Given the description of an element on the screen output the (x, y) to click on. 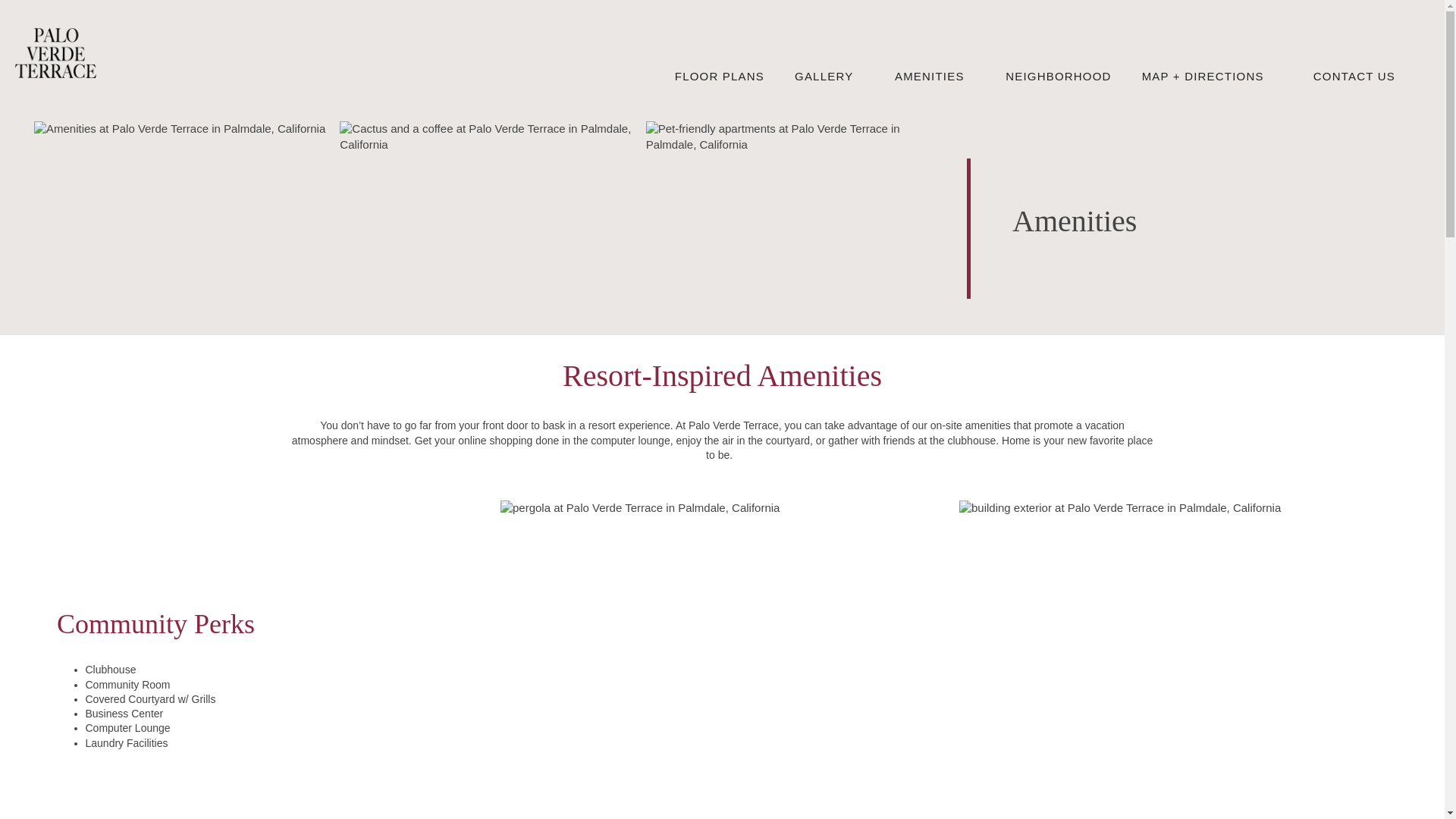
CONTACT US (1354, 76)
AMENITIES (928, 76)
GALLERY (822, 76)
FLOOR PLANS (718, 76)
NEIGHBORHOOD (1057, 76)
